Given the description of an element on the screen output the (x, y) to click on. 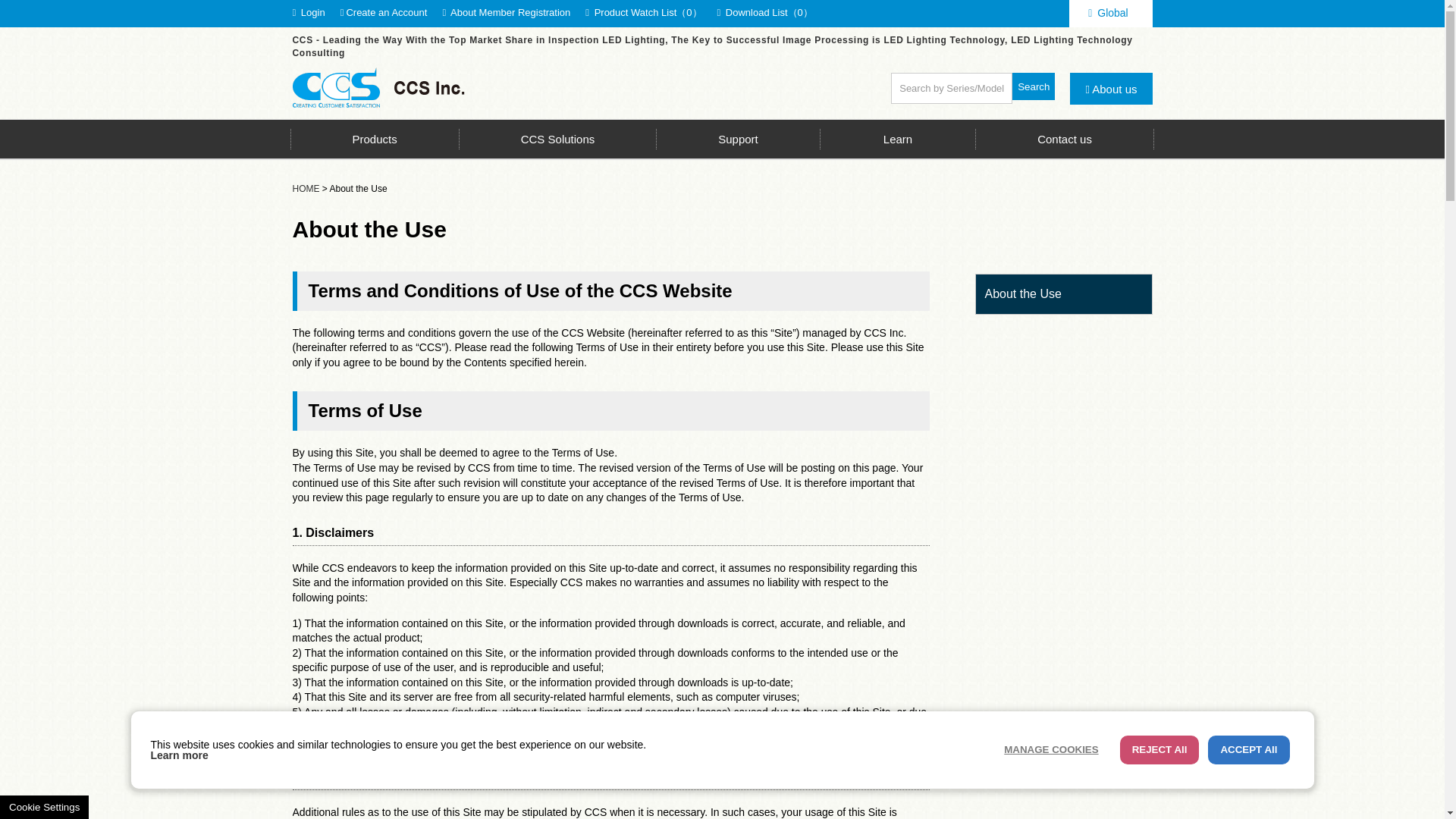
Search (1032, 85)
Products (373, 138)
About us (1110, 88)
About Member Registration (507, 12)
Create an Account (385, 12)
Login (310, 12)
